Given the description of an element on the screen output the (x, y) to click on. 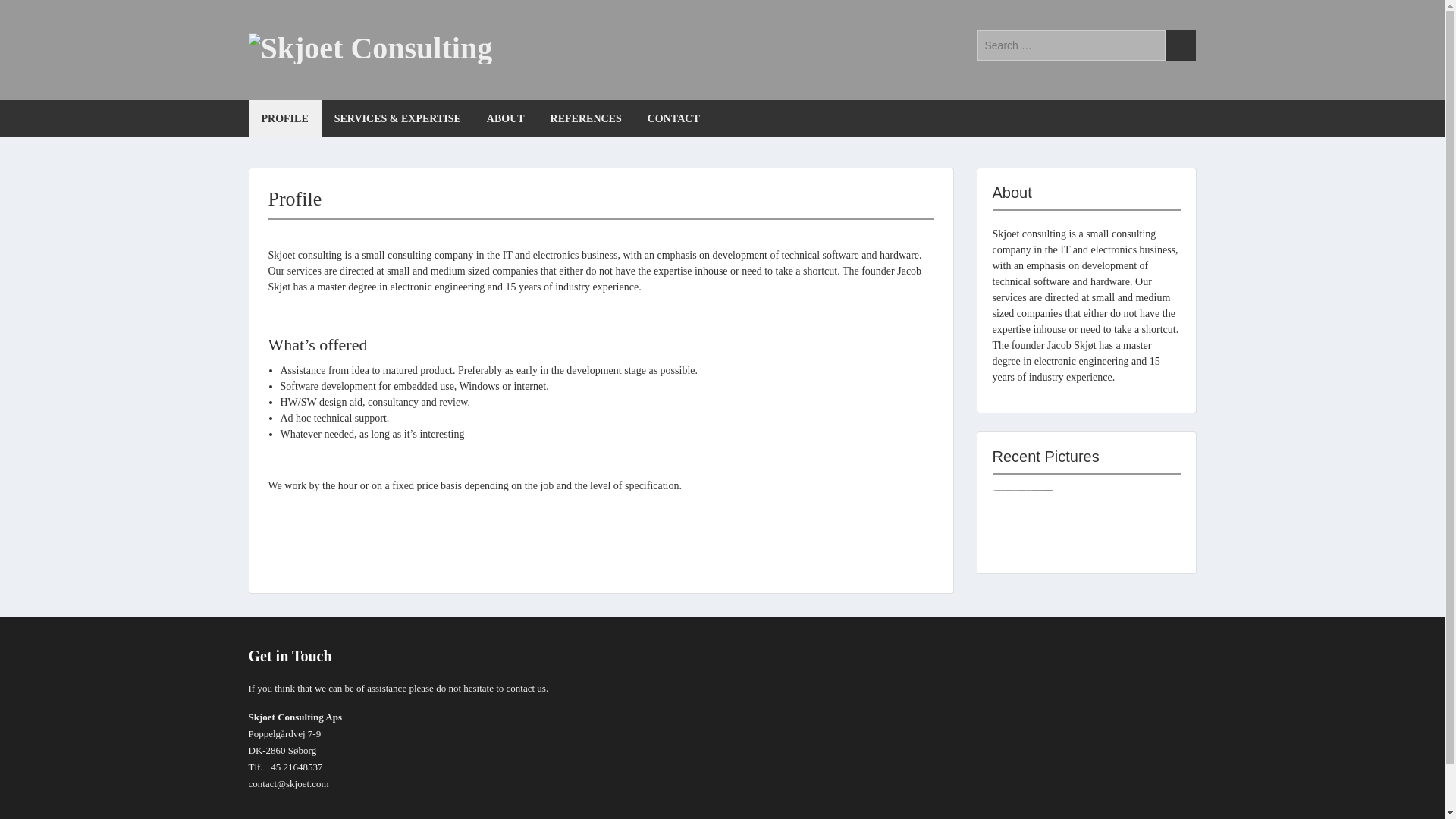
ABOUT (505, 118)
Search for: (1071, 45)
CONTACT (673, 118)
PROFILE (284, 118)
Search (1180, 45)
REFERENCES (585, 118)
Search (1180, 45)
